Given the description of an element on the screen output the (x, y) to click on. 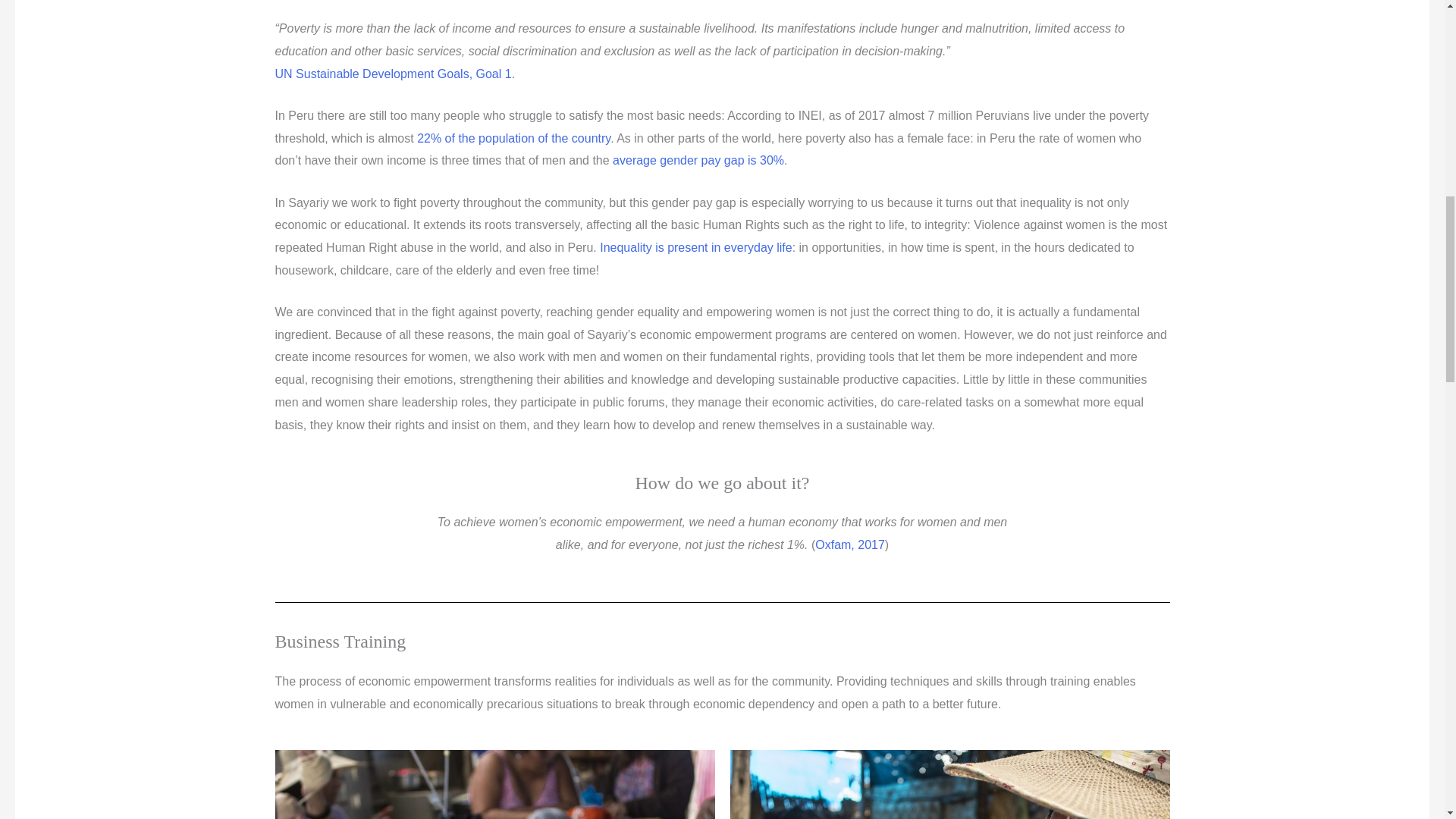
Oxfam, 2017 (850, 544)
Inequality is present in everyday life (695, 246)
UN Sustainable Development Goals, Goal 1 (393, 73)
